Given the description of an element on the screen output the (x, y) to click on. 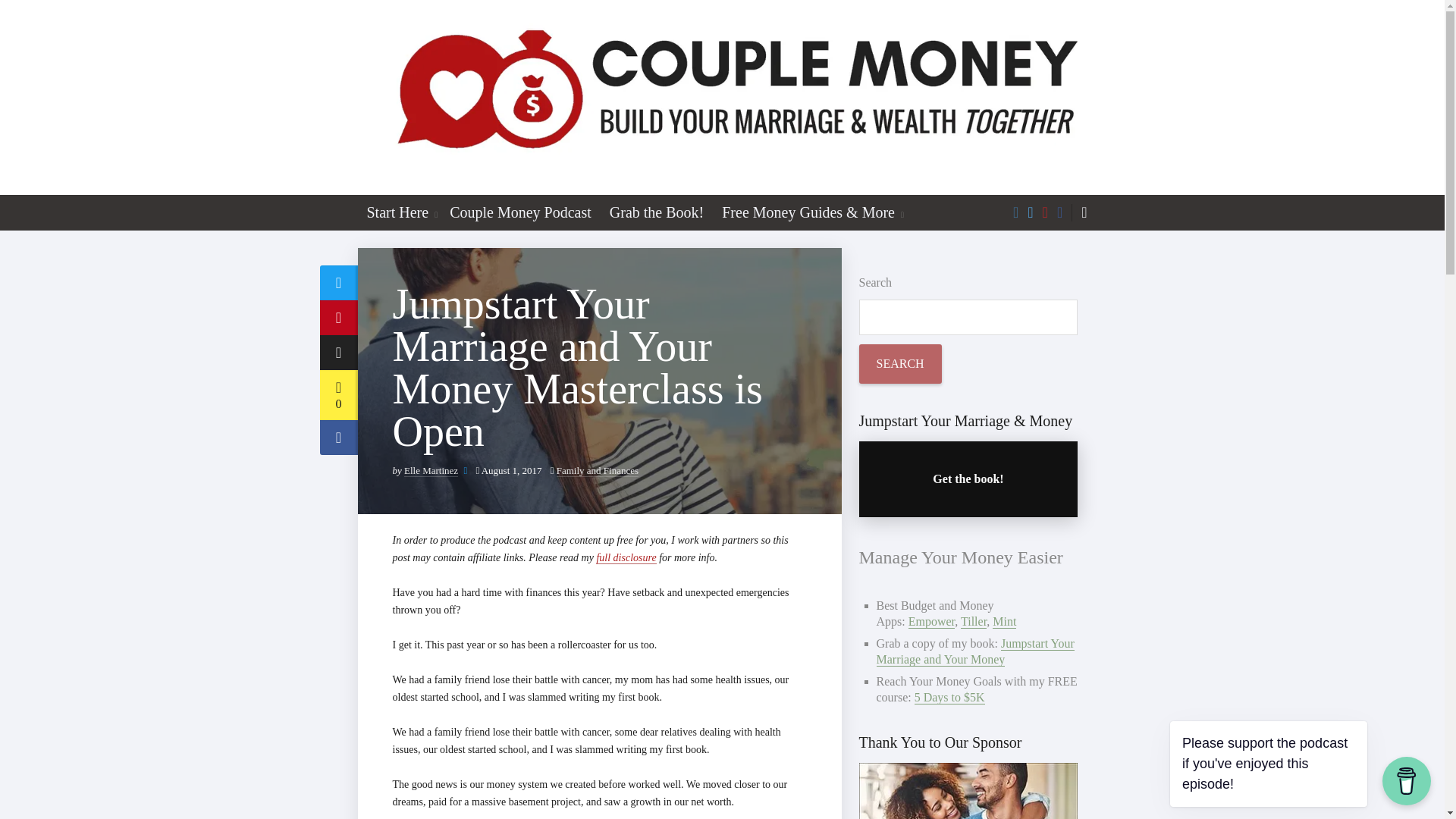
Family and Finances (597, 469)
Grab the Book! (656, 212)
Couple Money (722, 97)
Start Here (395, 212)
Elle Martinez (431, 469)
full disclosure (625, 558)
Couple Money Podcast (520, 212)
